Given the description of an element on the screen output the (x, y) to click on. 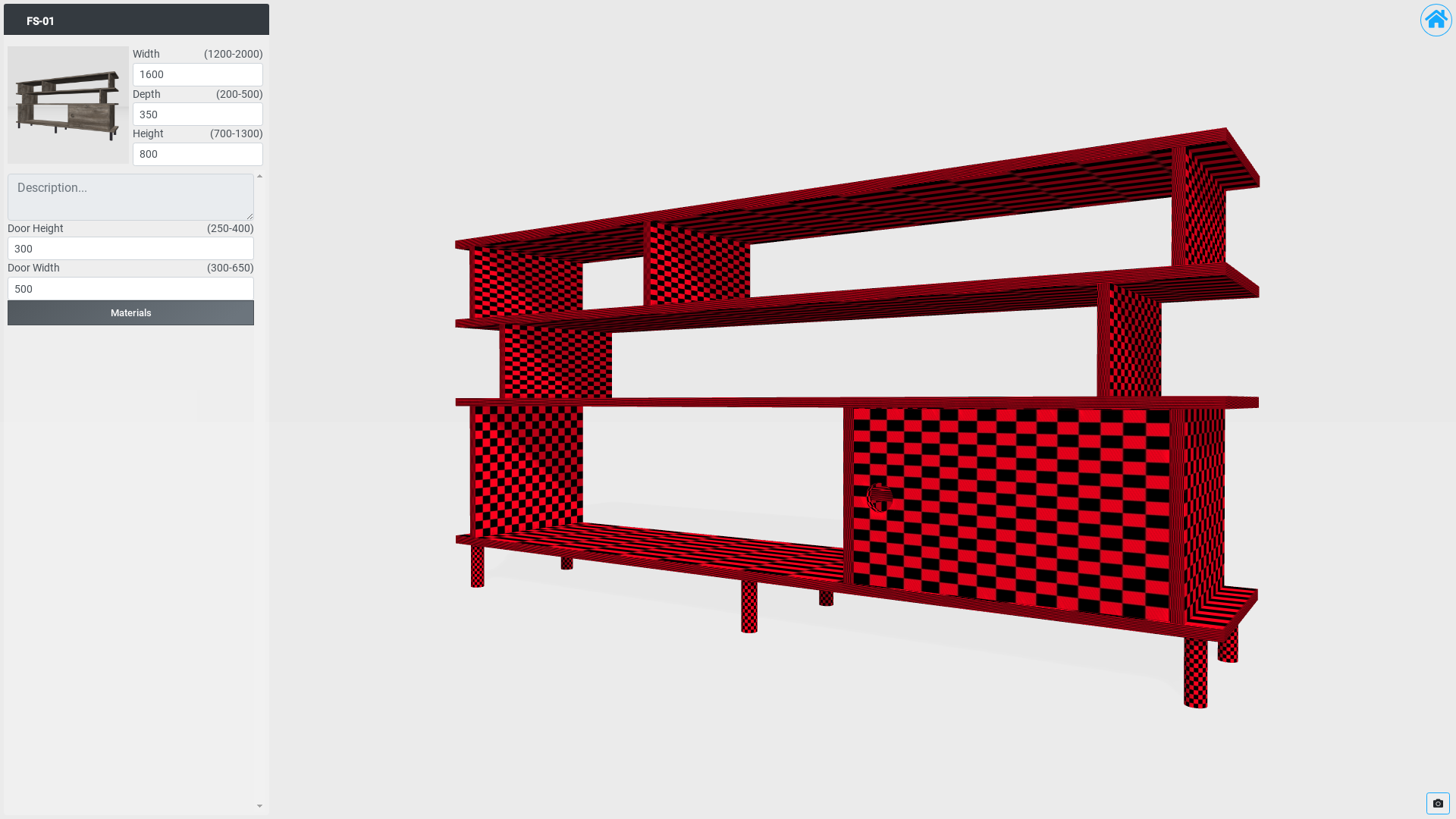
Download Image (screenshot) Element type: hover (1437, 803)
Reset Camera Element type: hover (1436, 19)
Materials Element type: text (130, 312)
